Given the description of an element on the screen output the (x, y) to click on. 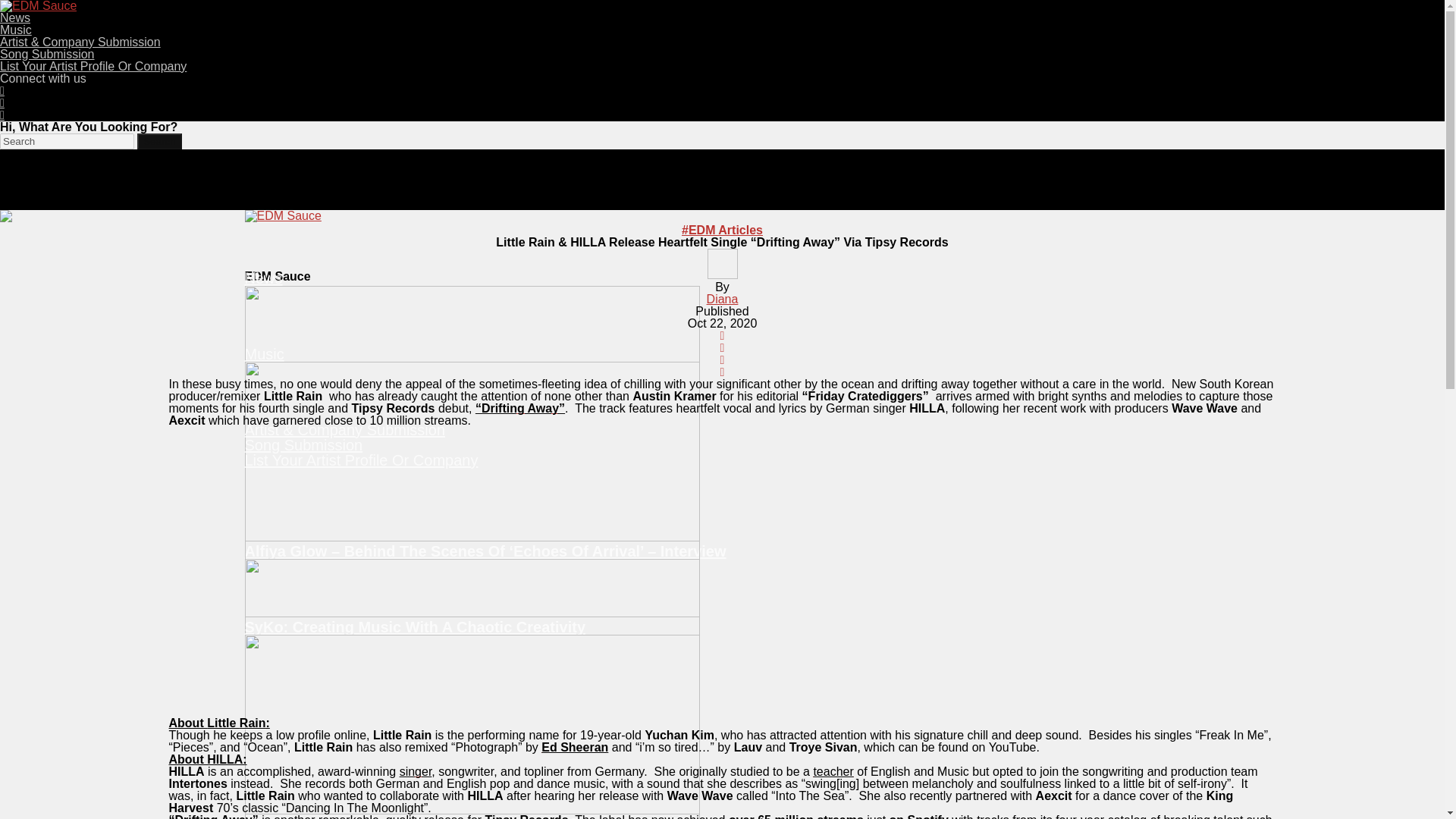
List Your Artist Profile Or Company (93, 65)
Search (66, 141)
Search (158, 141)
Song Submission (47, 53)
Song Submission (303, 444)
Search (158, 141)
Music (16, 29)
News (15, 17)
List Your Artist Profile Or Company (360, 460)
